Given the description of an element on the screen output the (x, y) to click on. 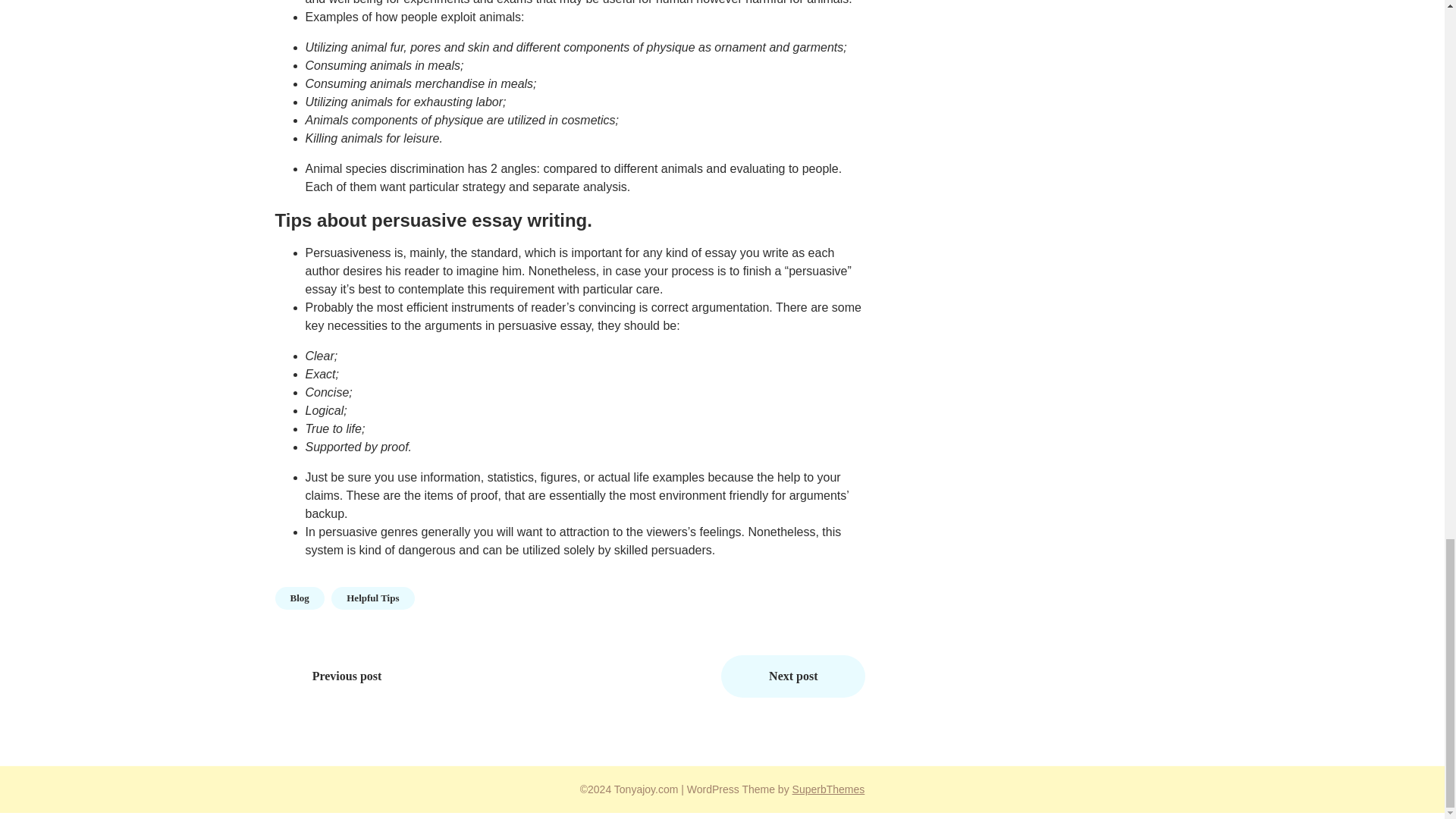
Blog (299, 598)
Helpful Tips (372, 598)
Next post (792, 676)
Previous post (347, 676)
